Given the description of an element on the screen output the (x, y) to click on. 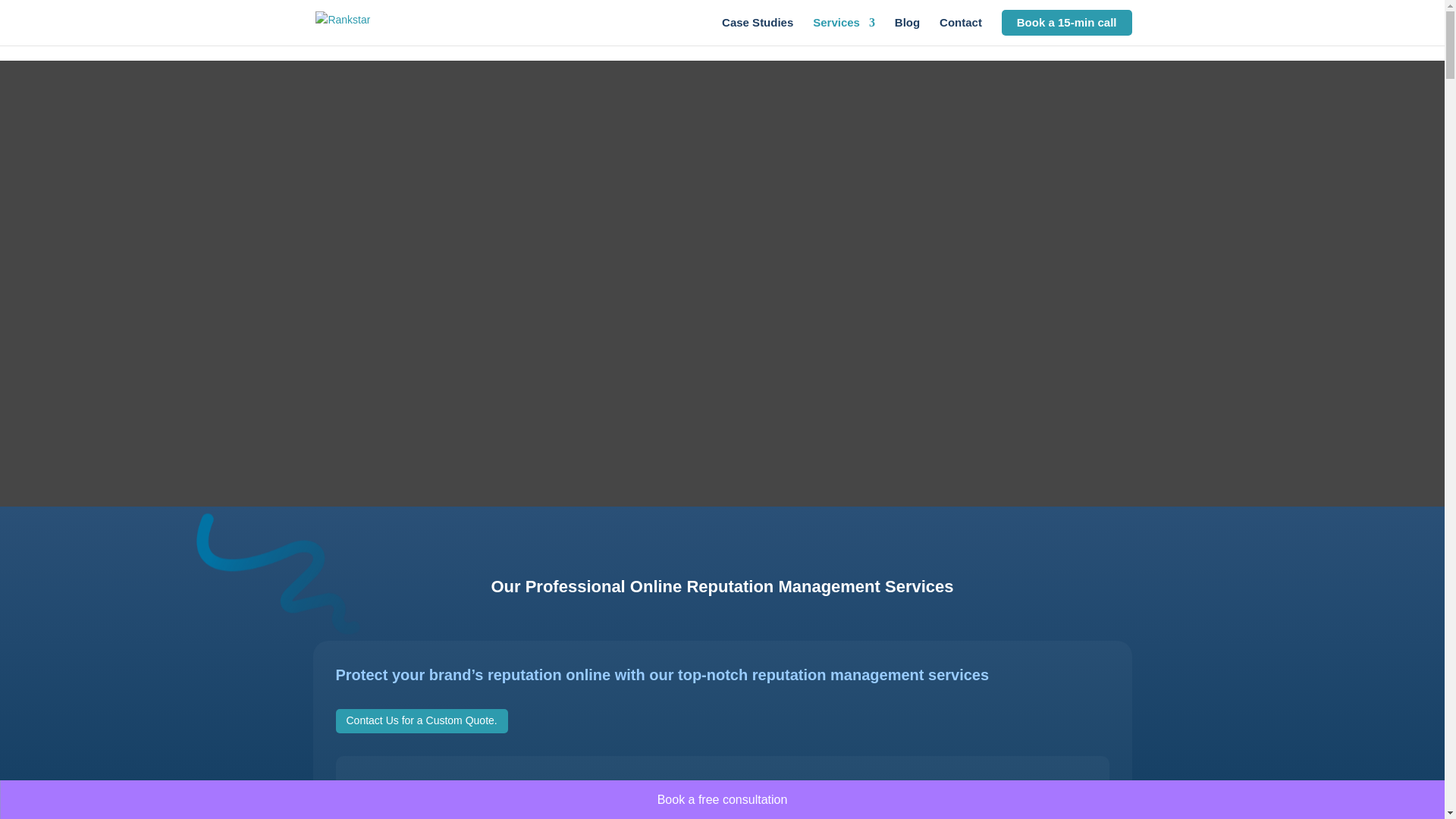
Book a 15-min call (1066, 22)
Contact (960, 31)
rankstar-decoration-banner (277, 573)
Blog (907, 31)
Contact Us for a Custom Quote. (420, 721)
Case Studies (757, 31)
Services (843, 31)
